Given the description of an element on the screen output the (x, y) to click on. 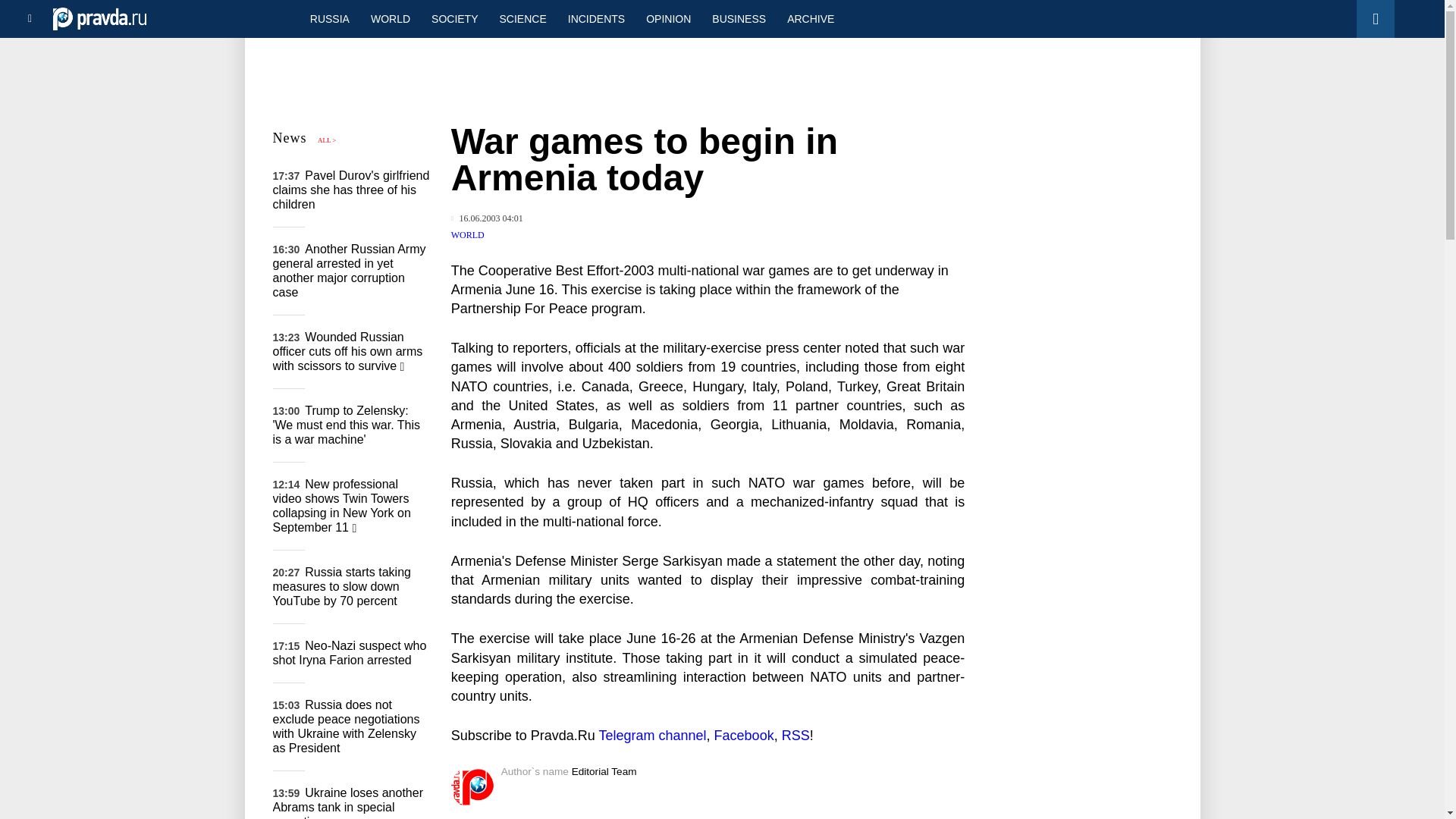
WORLD (389, 18)
INCIDENTS (595, 18)
OPINION (667, 18)
WORLD (467, 235)
SOCIETY (453, 18)
Published (486, 218)
Editorial Team (604, 771)
News (290, 137)
Ukraine loses another Abrams tank in special operation zone (348, 802)
RSS (795, 735)
RUSSIA (329, 18)
BUSINESS (738, 18)
